Given the description of an element on the screen output the (x, y) to click on. 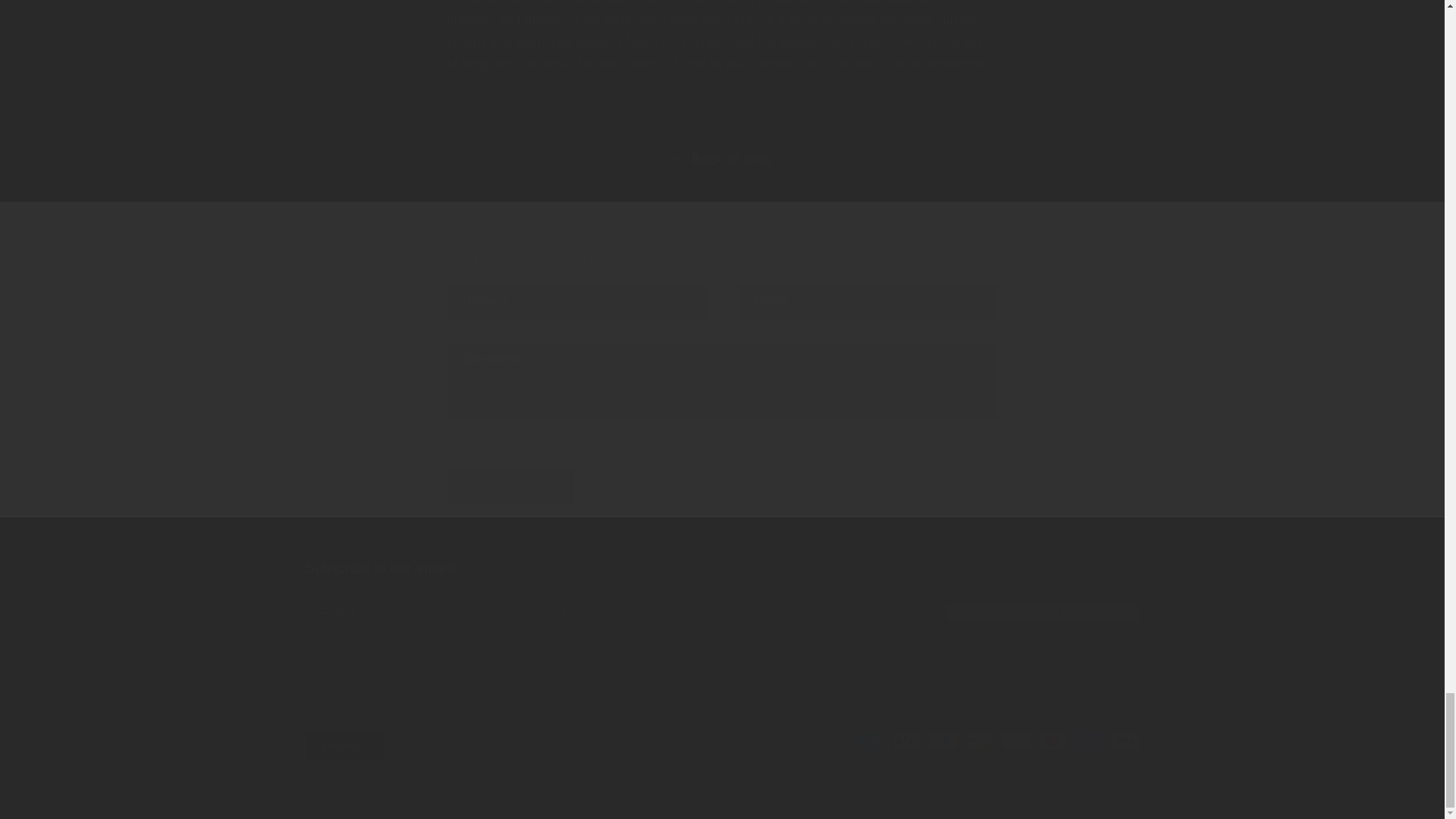
Post comment (510, 486)
